Given the description of an element on the screen output the (x, y) to click on. 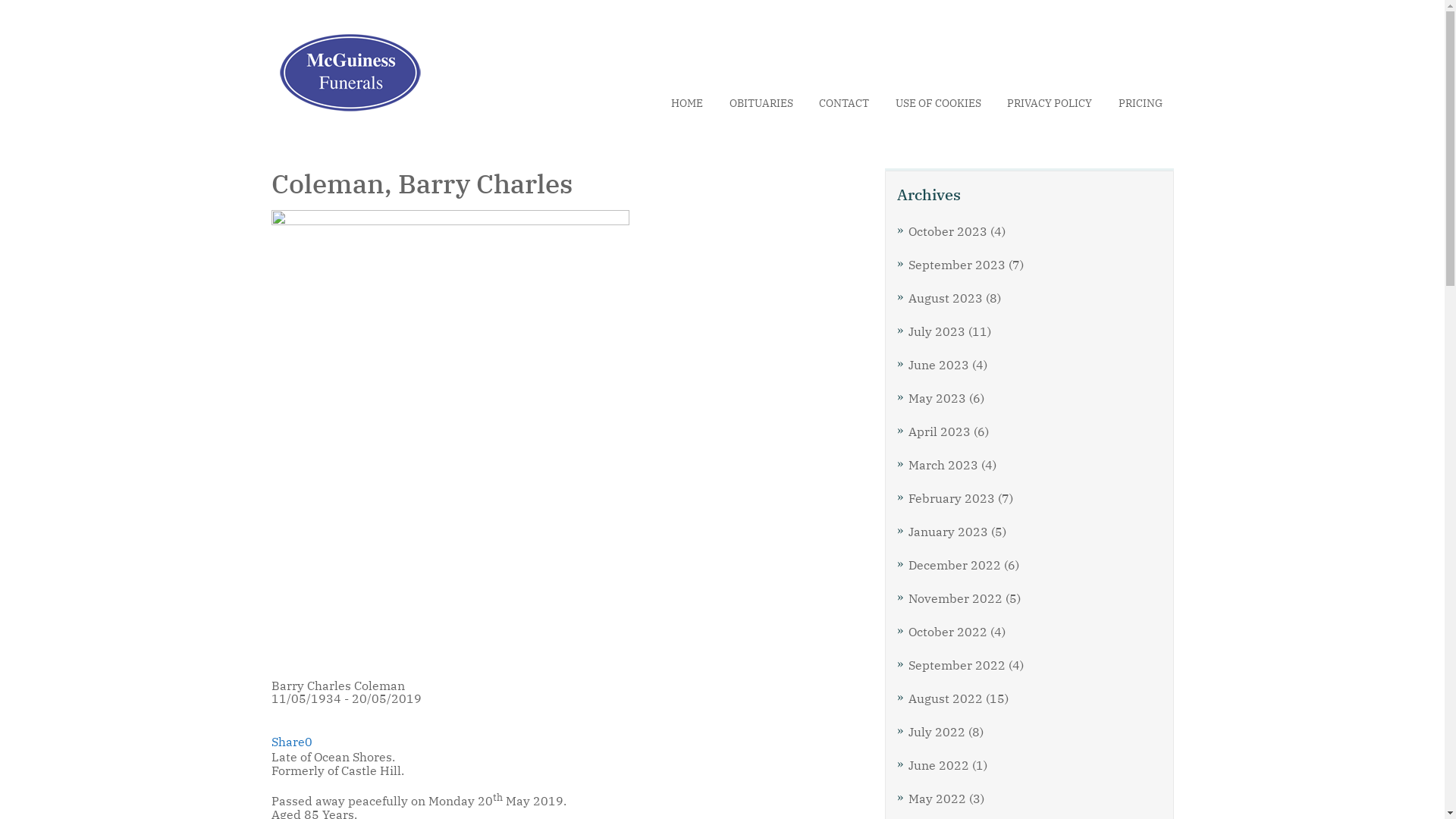
August 2022 Element type: text (945, 697)
September 2022 Element type: text (956, 663)
August 2023 Element type: text (945, 296)
May 2022 Element type: text (937, 797)
December 2022 Element type: text (954, 563)
February 2023 Element type: text (951, 497)
April 2023 Element type: text (939, 430)
July 2023 Element type: text (936, 330)
September 2023 Element type: text (956, 263)
January 2023 Element type: text (948, 530)
PRICING Element type: text (1139, 102)
March 2023 Element type: text (943, 463)
Coleman, Barry Charles Element type: hover (450, 440)
May 2023 Element type: text (937, 396)
July 2022 Element type: text (936, 730)
USE OF COOKIES Element type: text (937, 102)
HOME Element type: text (686, 102)
November 2022 Element type: text (955, 597)
June 2022 Element type: text (938, 763)
PRIVACY POLICY Element type: text (1049, 102)
June 2023 Element type: text (938, 363)
Share0 Element type: text (291, 741)
October 2022 Element type: text (947, 630)
October 2023 Element type: text (947, 230)
OBITUARIES Element type: text (761, 102)
CONTACT Element type: text (844, 102)
